Given the description of an element on the screen output the (x, y) to click on. 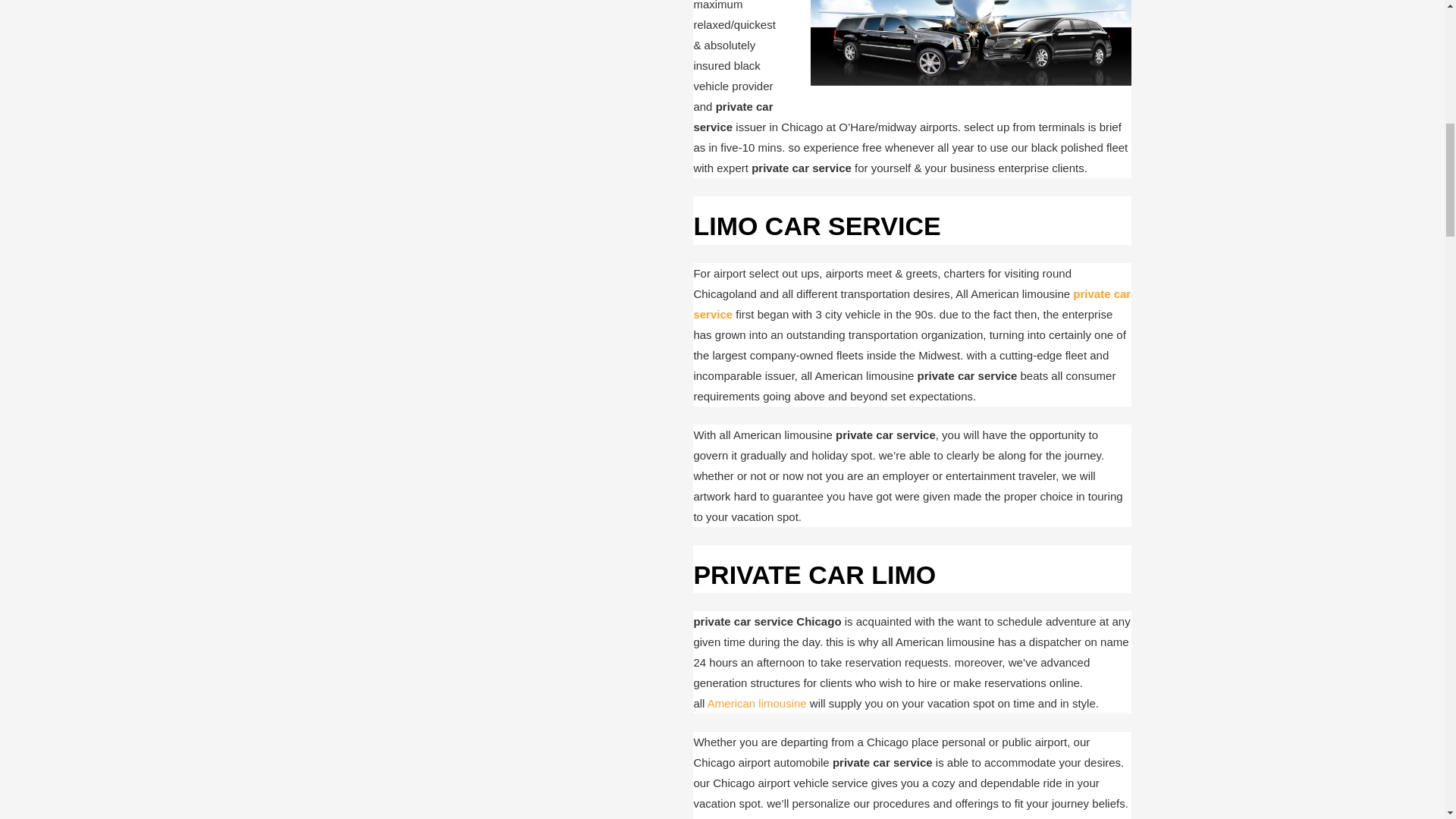
private car service (912, 304)
private-car-service (970, 42)
